Given the description of an element on the screen output the (x, y) to click on. 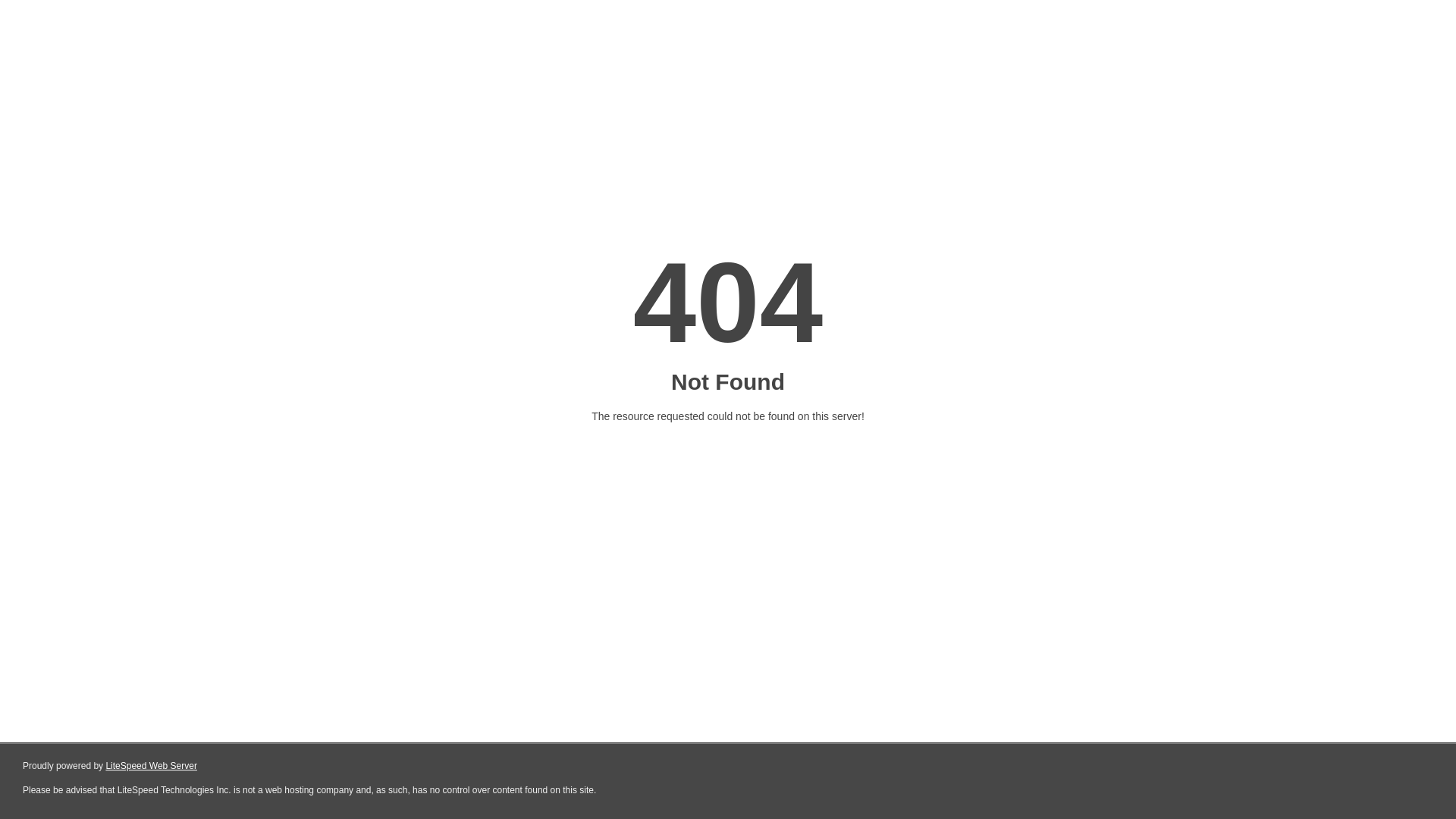
LiteSpeed Web Server Element type: text (151, 765)
